Given the description of an element on the screen output the (x, y) to click on. 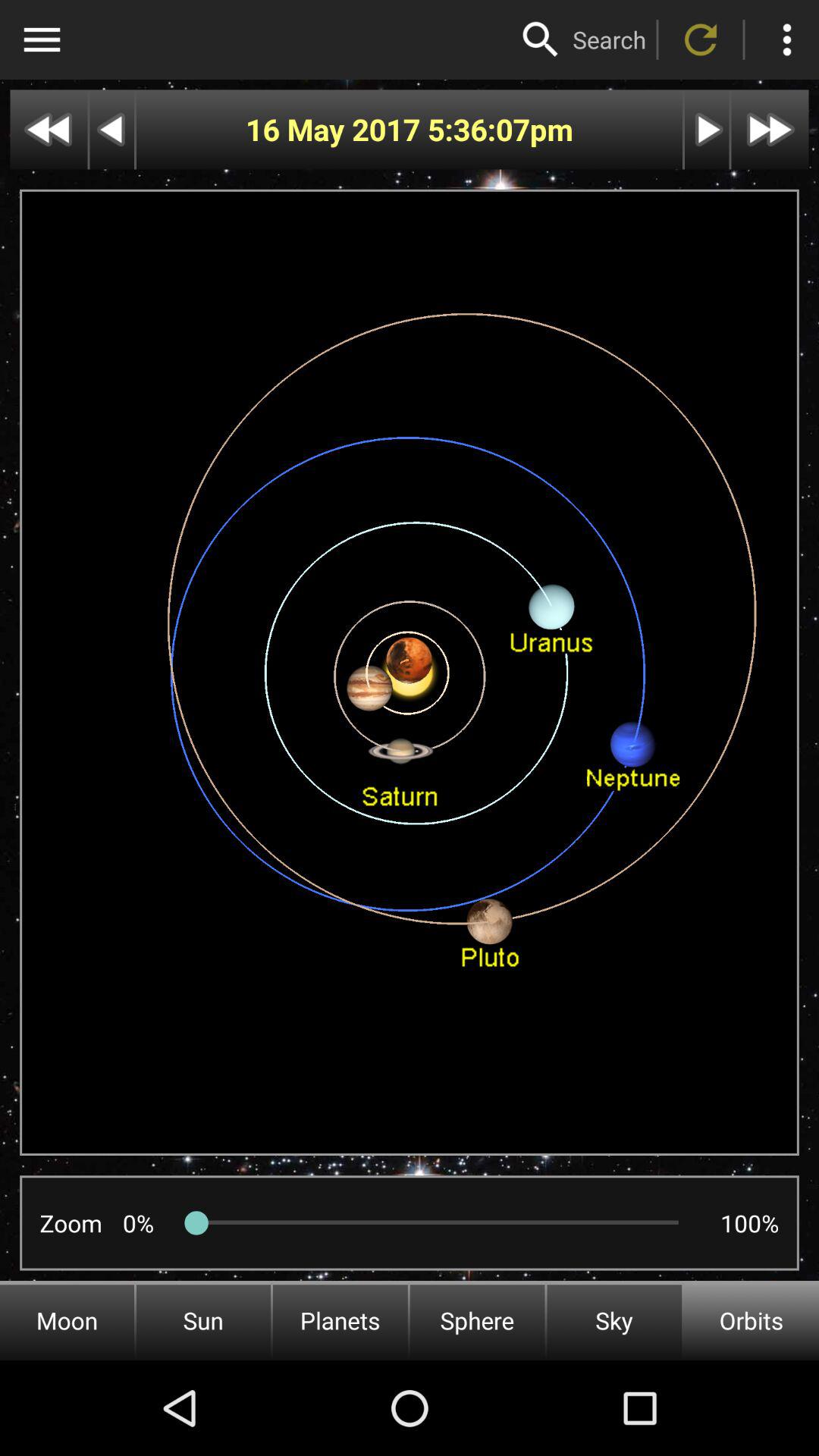
go forward once (706, 129)
